Given the description of an element on the screen output the (x, y) to click on. 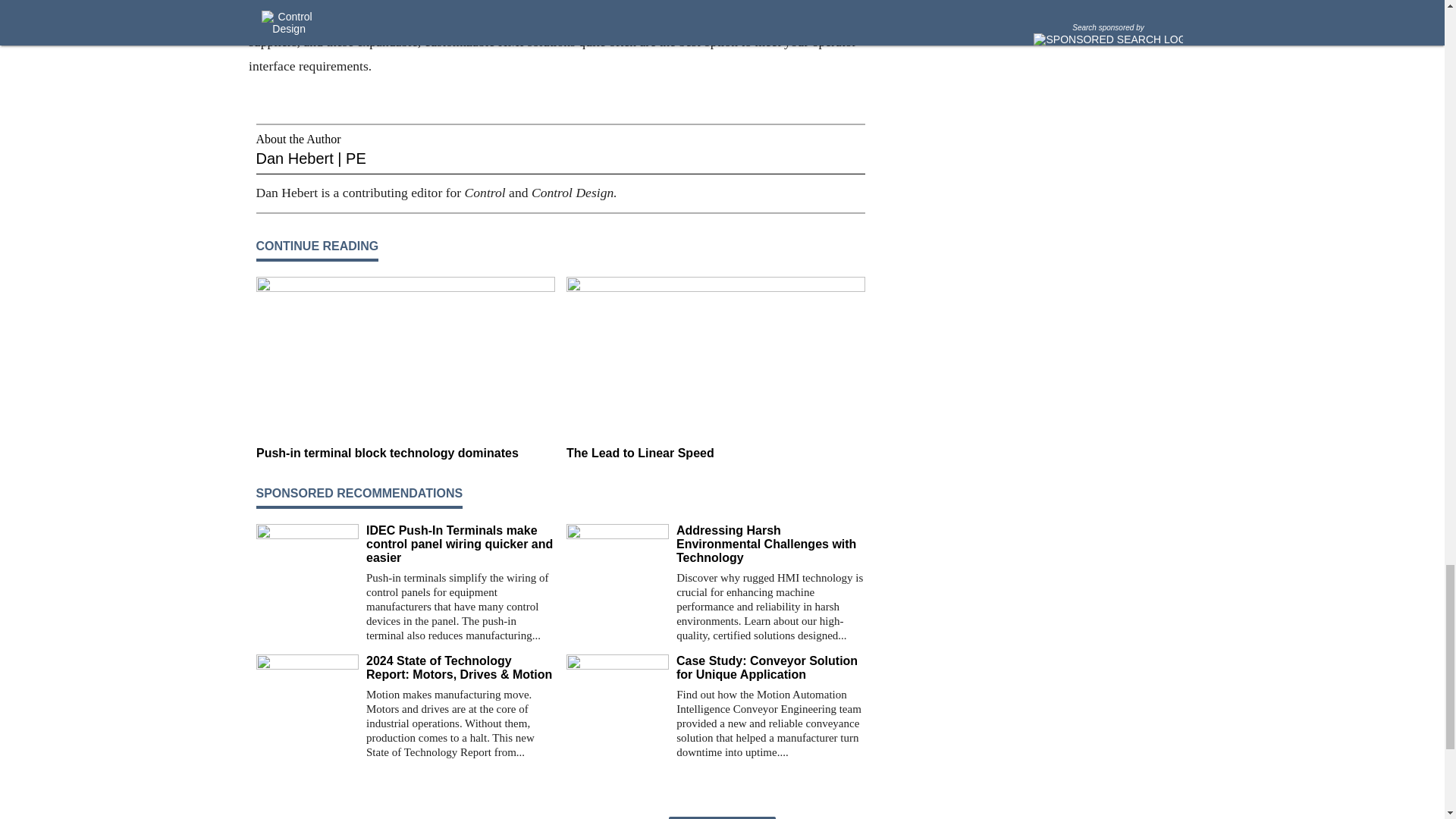
Case Study: Conveyor Solution for Unique Application (770, 667)
Addressing Harsh Environmental Challenges with Technology (770, 544)
The Lead to Linear Speed (715, 454)
Push-in terminal block technology dominates (405, 454)
